Given the description of an element on the screen output the (x, y) to click on. 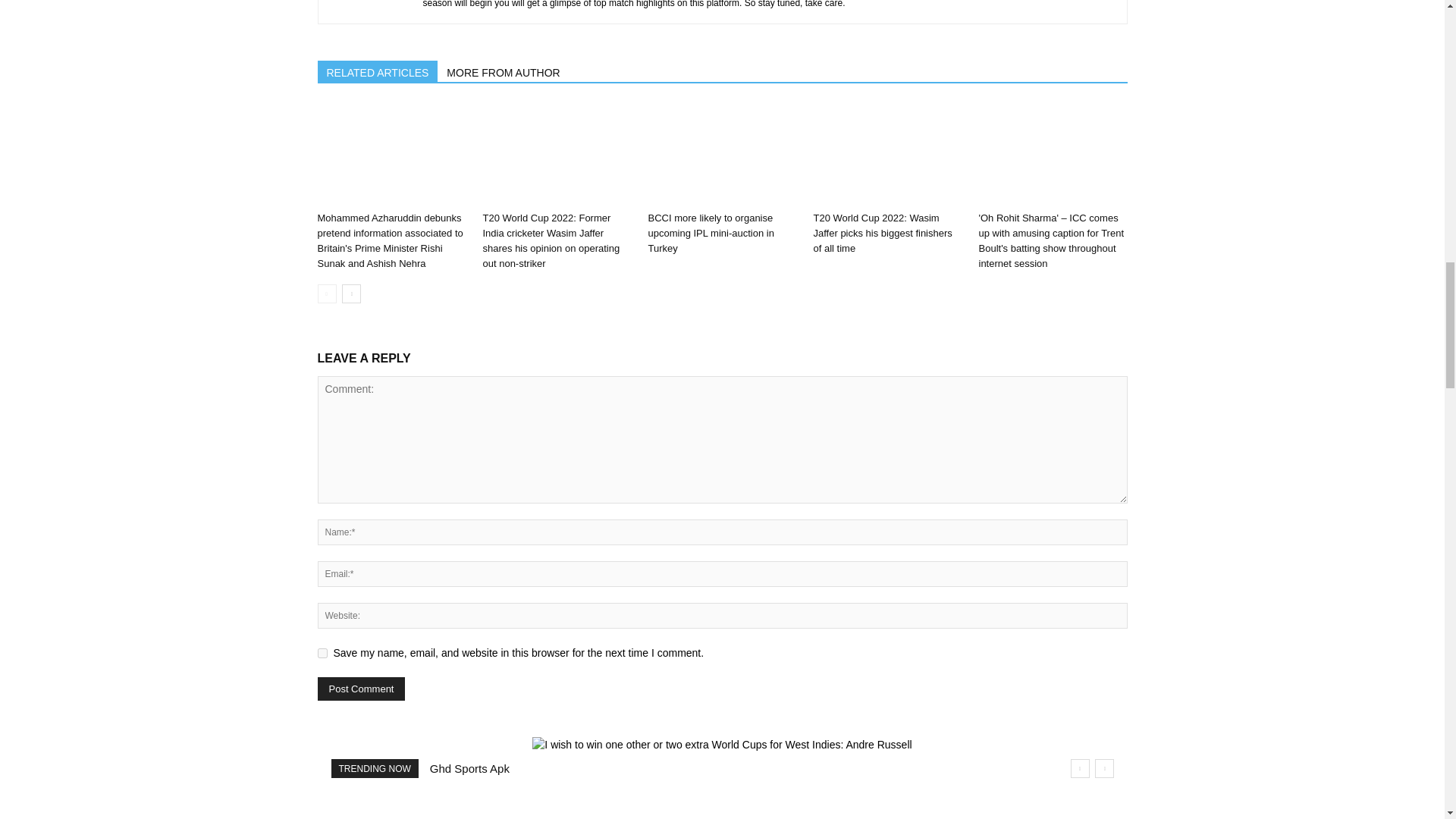
Post Comment (360, 689)
yes (321, 653)
